Given the description of an element on the screen output the (x, y) to click on. 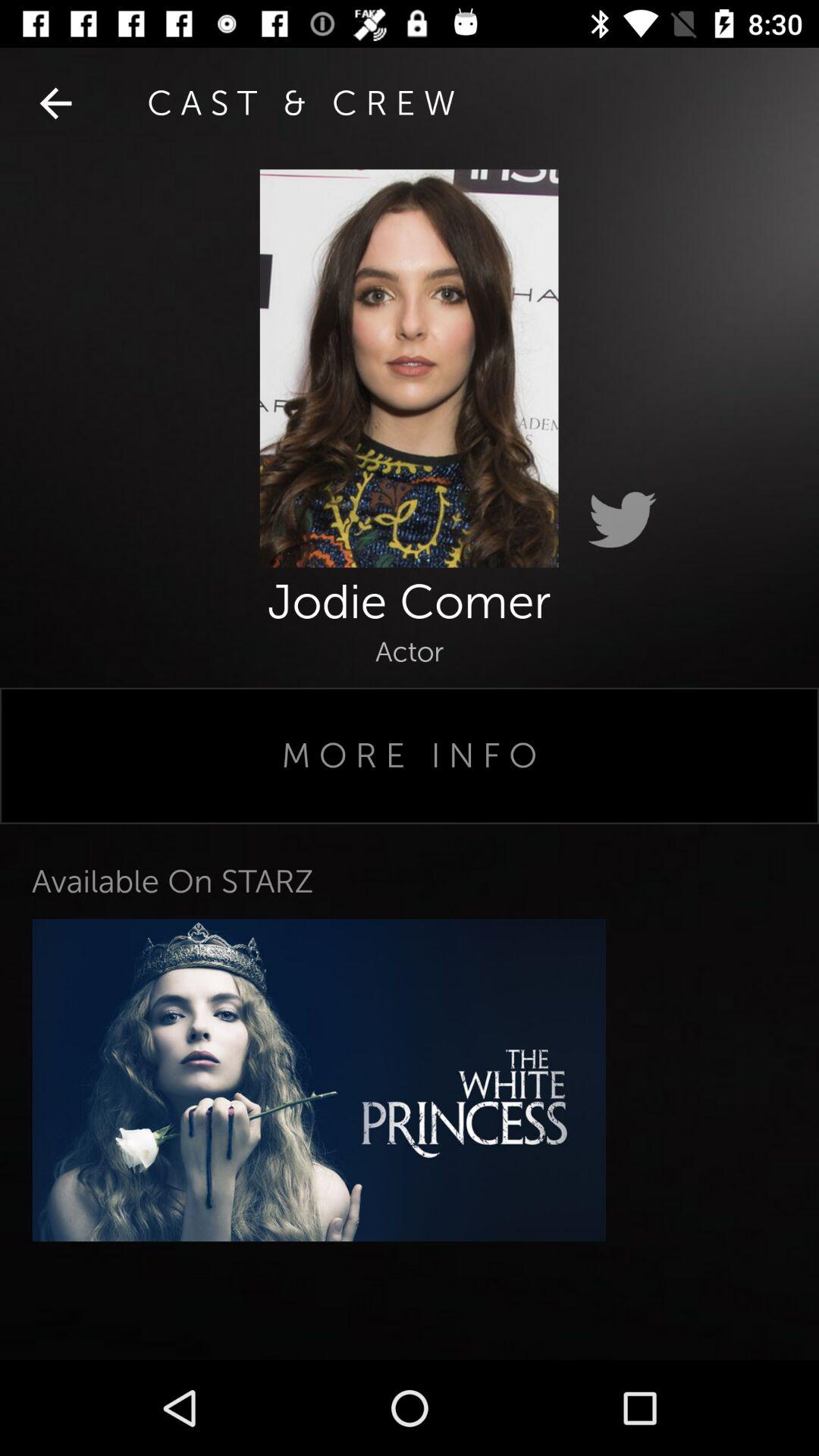
flip to the more info icon (409, 755)
